Given the description of an element on the screen output the (x, y) to click on. 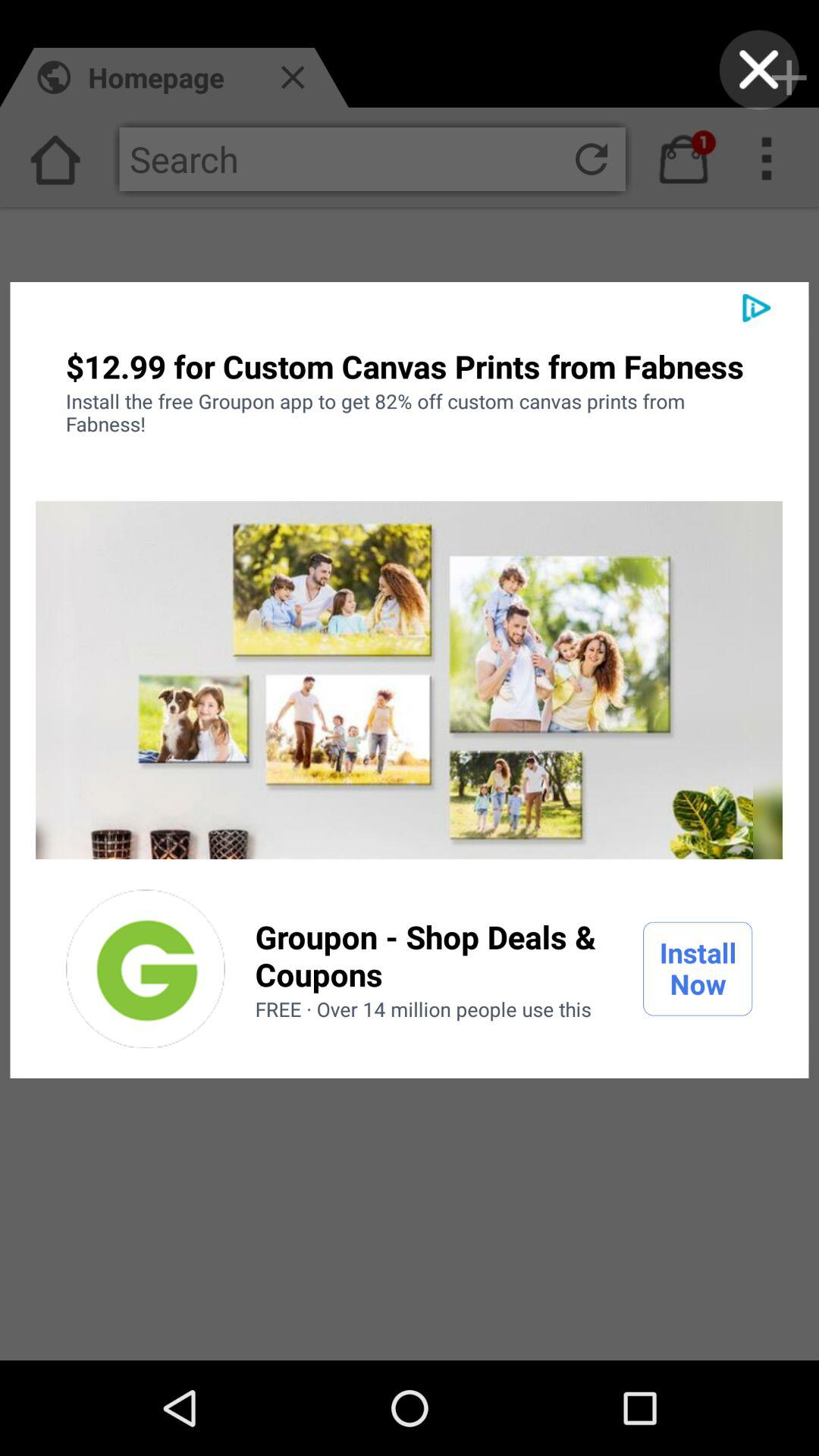
turn on icon next to groupon shop deals item (697, 968)
